Given the description of an element on the screen output the (x, y) to click on. 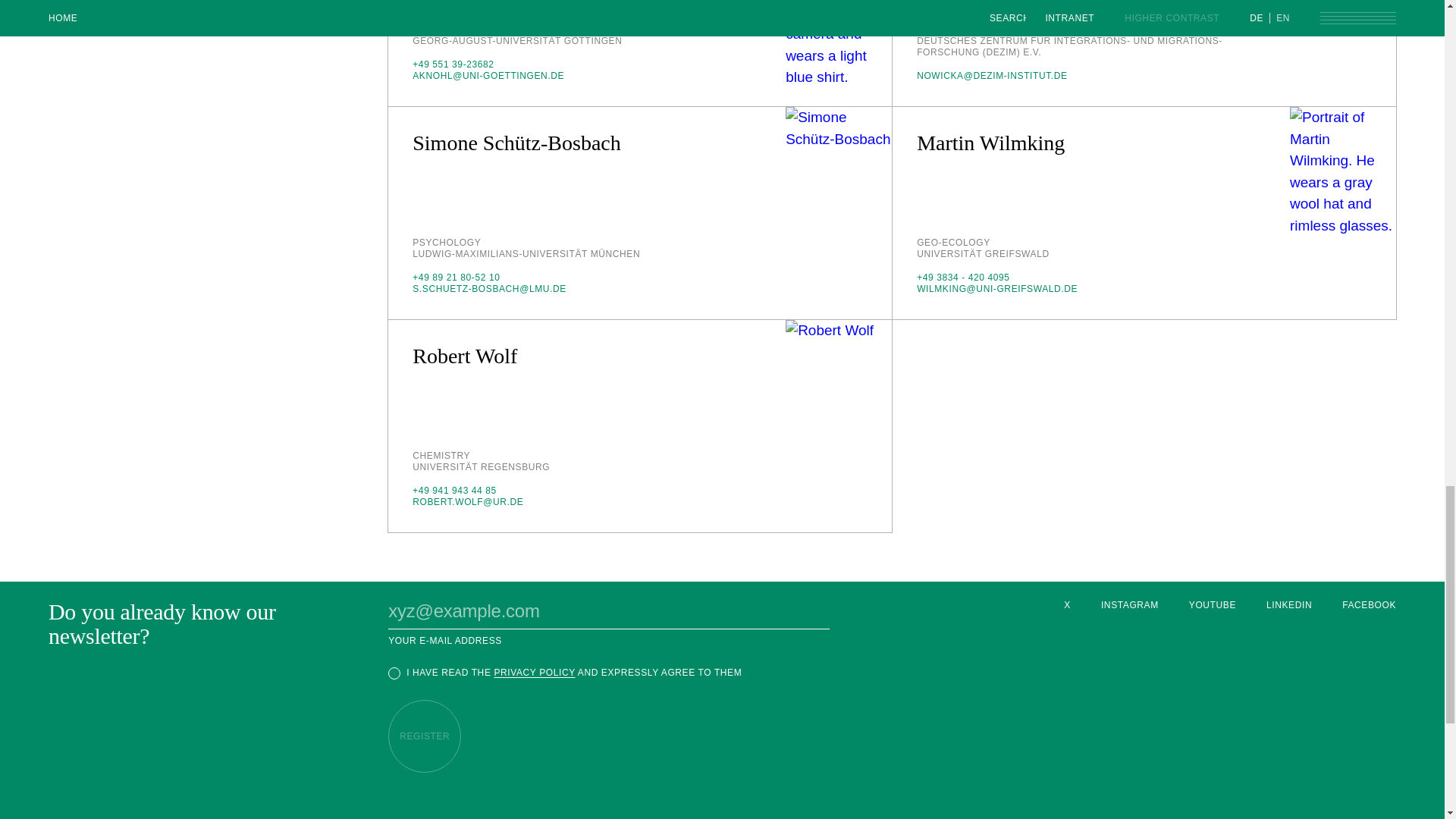
Magdalena Nowicka (1343, 53)
Alexander Knohl (838, 53)
